Given the description of an element on the screen output the (x, y) to click on. 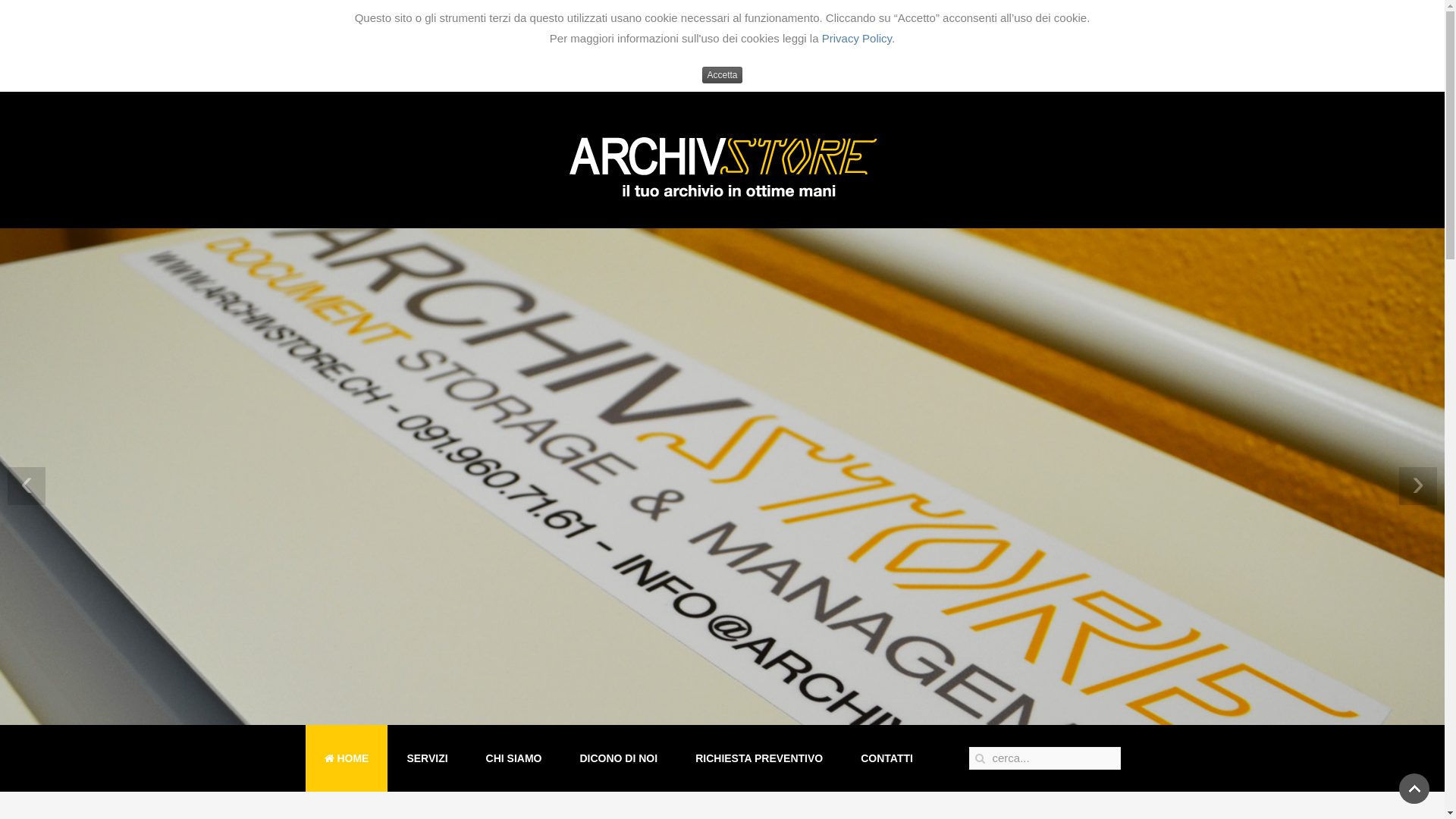
HOME Element type: text (345, 757)
Accetta Element type: text (721, 74)
CONTATTI Element type: text (886, 757)
DICONO DI NOI Element type: text (618, 757)
CHI SIAMO Element type: text (514, 757)
RICHIESTA PREVENTIVO Element type: text (758, 757)
Privacy Policy Element type: text (856, 37)
SERVIZI Element type: text (426, 757)
